Given the description of an element on the screen output the (x, y) to click on. 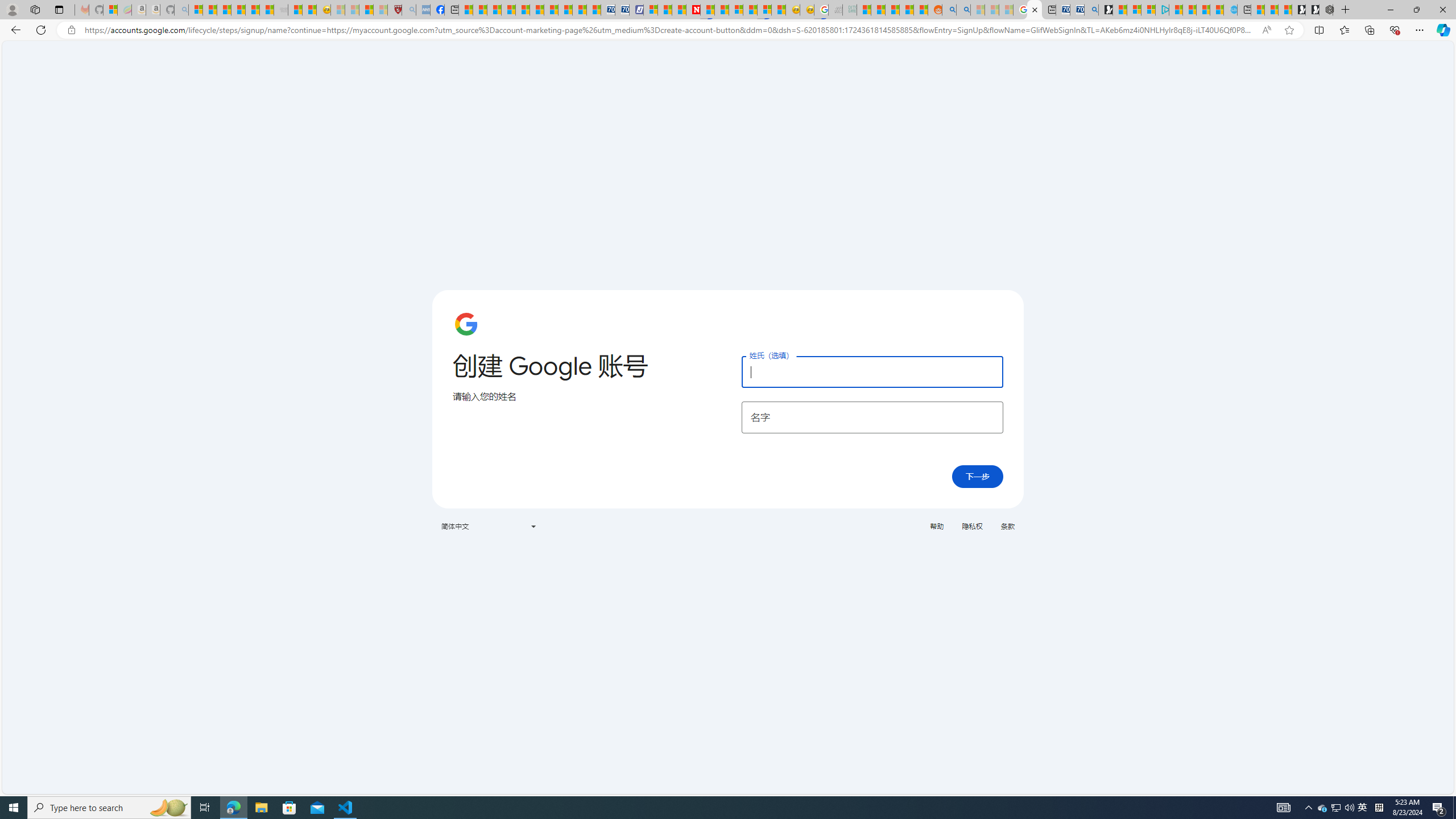
Bing Real Estate - Home sales and rental listings (1090, 9)
The Weather Channel - MSN (223, 9)
